Given the description of an element on the screen output the (x, y) to click on. 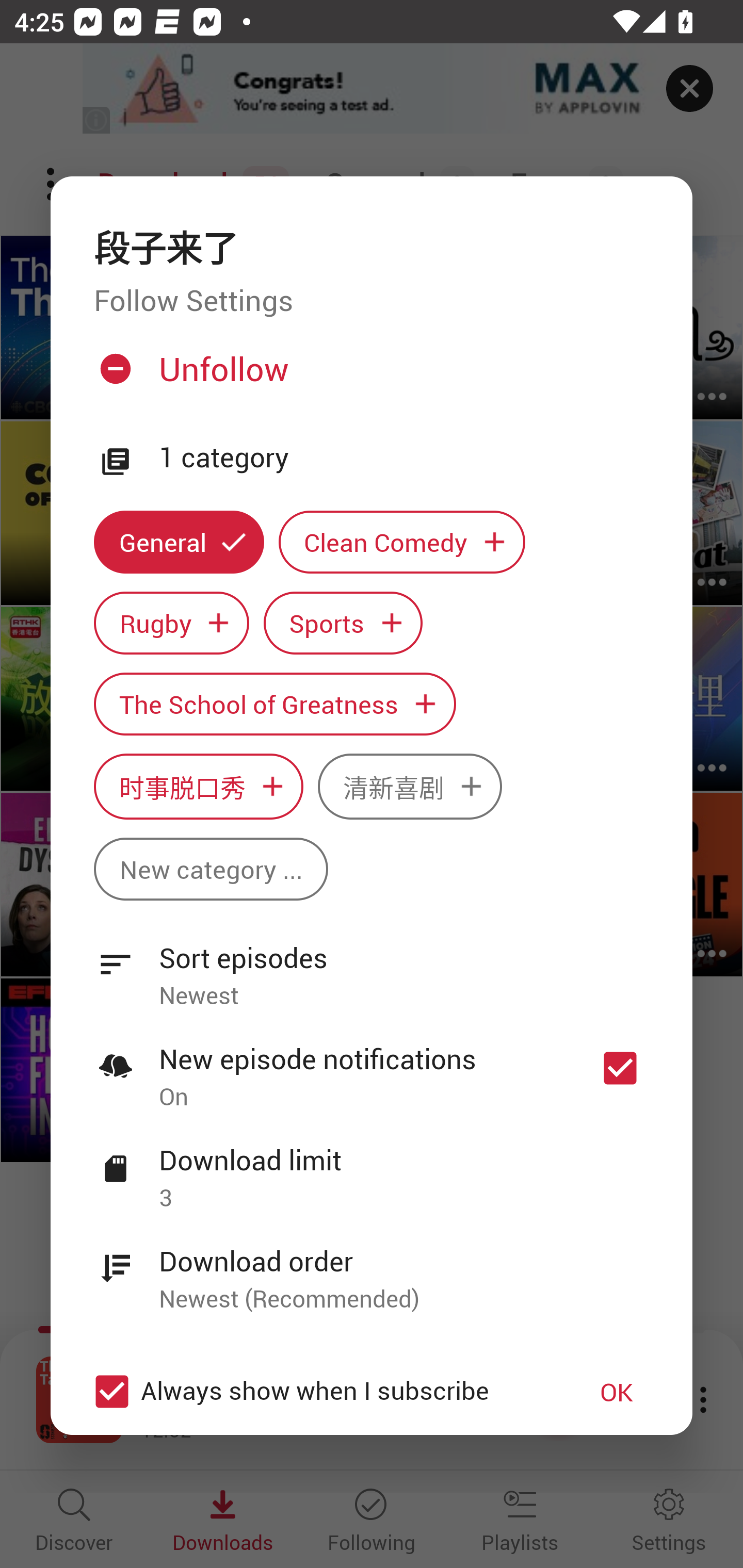
Unfollow (369, 376)
1 category (404, 457)
General (178, 542)
Clean Comedy (401, 542)
Rugby (170, 622)
Sports (342, 622)
The School of Greatness (274, 703)
时事脱口秀 (198, 787)
清新喜剧 (410, 787)
New category ... (210, 868)
Sort episodes Newest (371, 965)
New episode notifications (620, 1068)
Download limit 3 (371, 1167)
Download order Newest (Recommended) (371, 1268)
OK (616, 1391)
Always show when I subscribe (320, 1391)
